Given the description of an element on the screen output the (x, y) to click on. 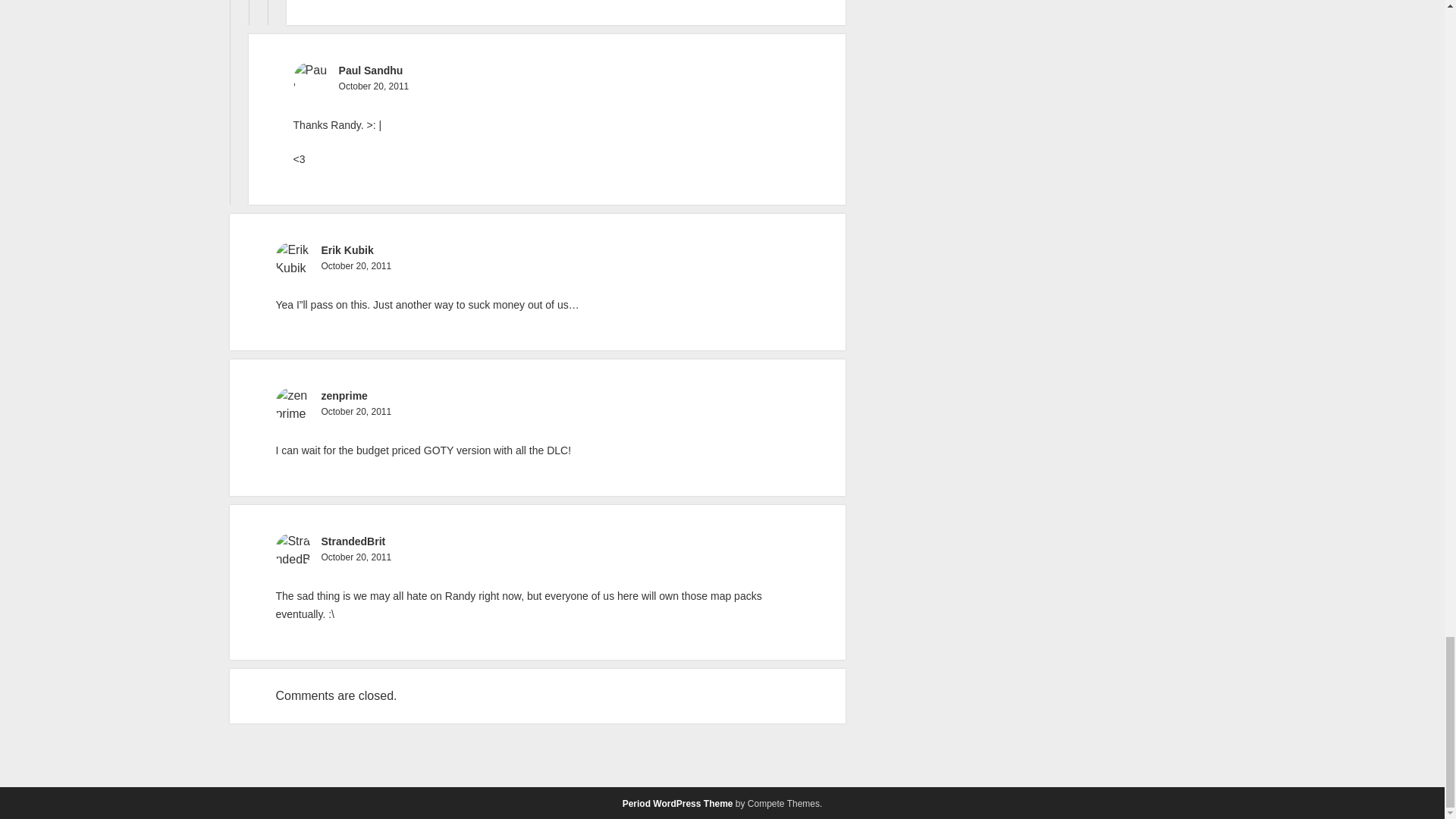
StrandedBrit (352, 541)
Erik Kubik (346, 250)
Paul Sandhu (371, 70)
